Given the description of an element on the screen output the (x, y) to click on. 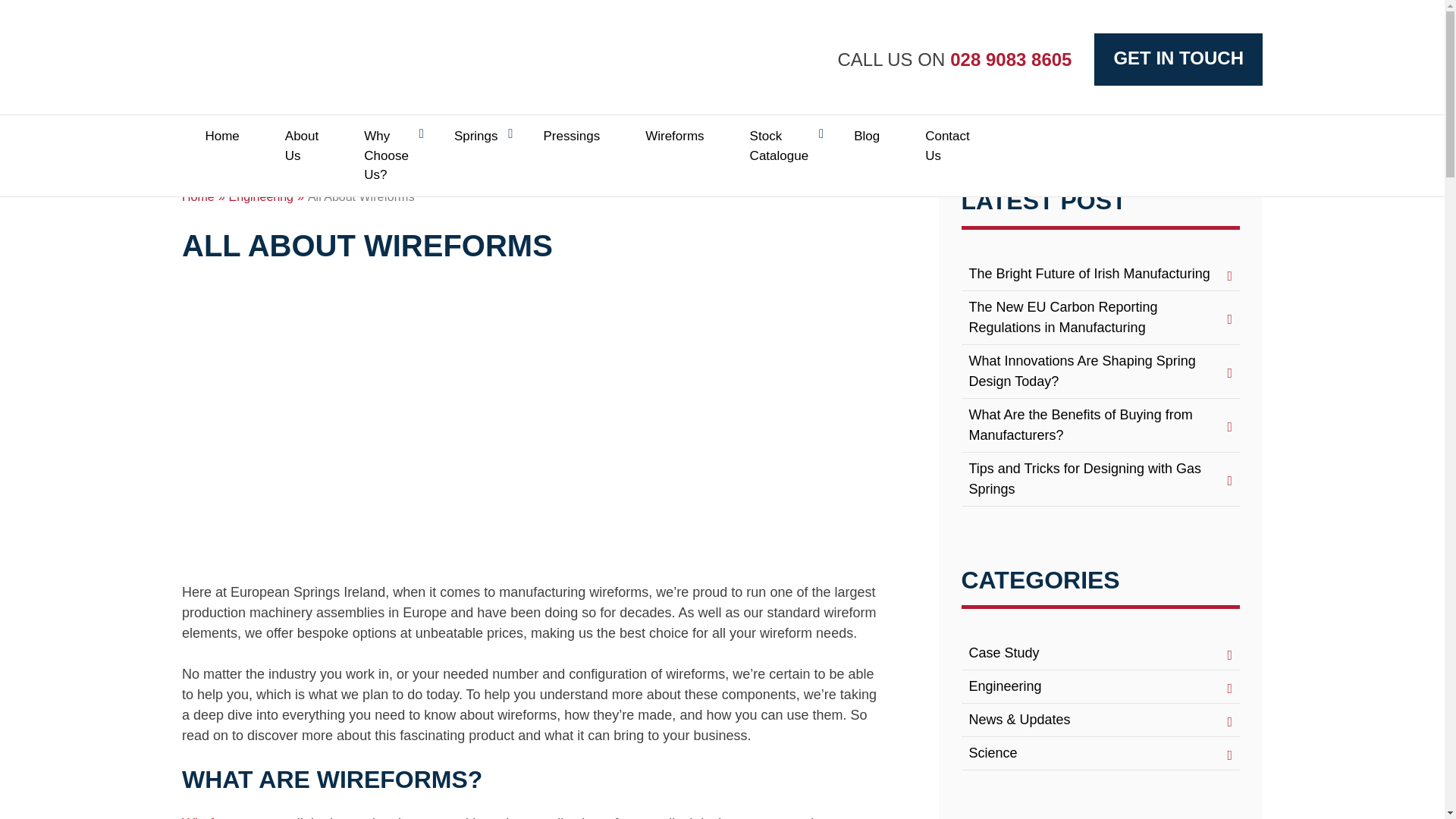
Why Choose Us? (385, 155)
About Us (301, 145)
Home (222, 135)
028 9083 8605 (1007, 58)
Springs (475, 135)
GET IN TOUCH (1178, 59)
